Given the description of an element on the screen output the (x, y) to click on. 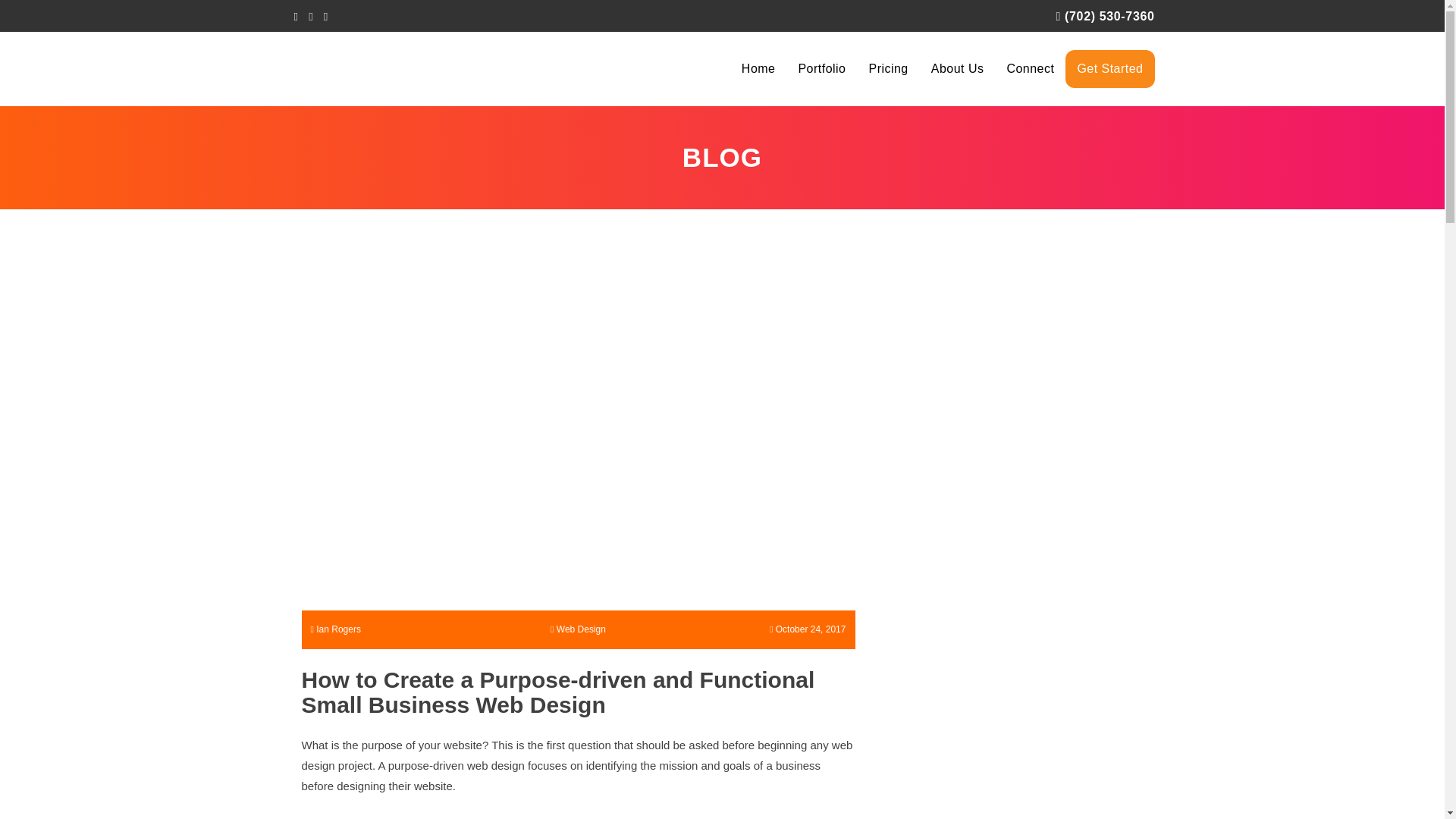
Connect (1029, 68)
About Us (957, 68)
Home (758, 68)
Get Started (1109, 68)
Portfolio (821, 68)
Portfolio (821, 68)
Web Design (580, 629)
Get Started (1109, 68)
Pricing (887, 68)
About Us (957, 68)
Connect (1029, 68)
Home (758, 68)
Pricing (887, 68)
